Given the description of an element on the screen output the (x, y) to click on. 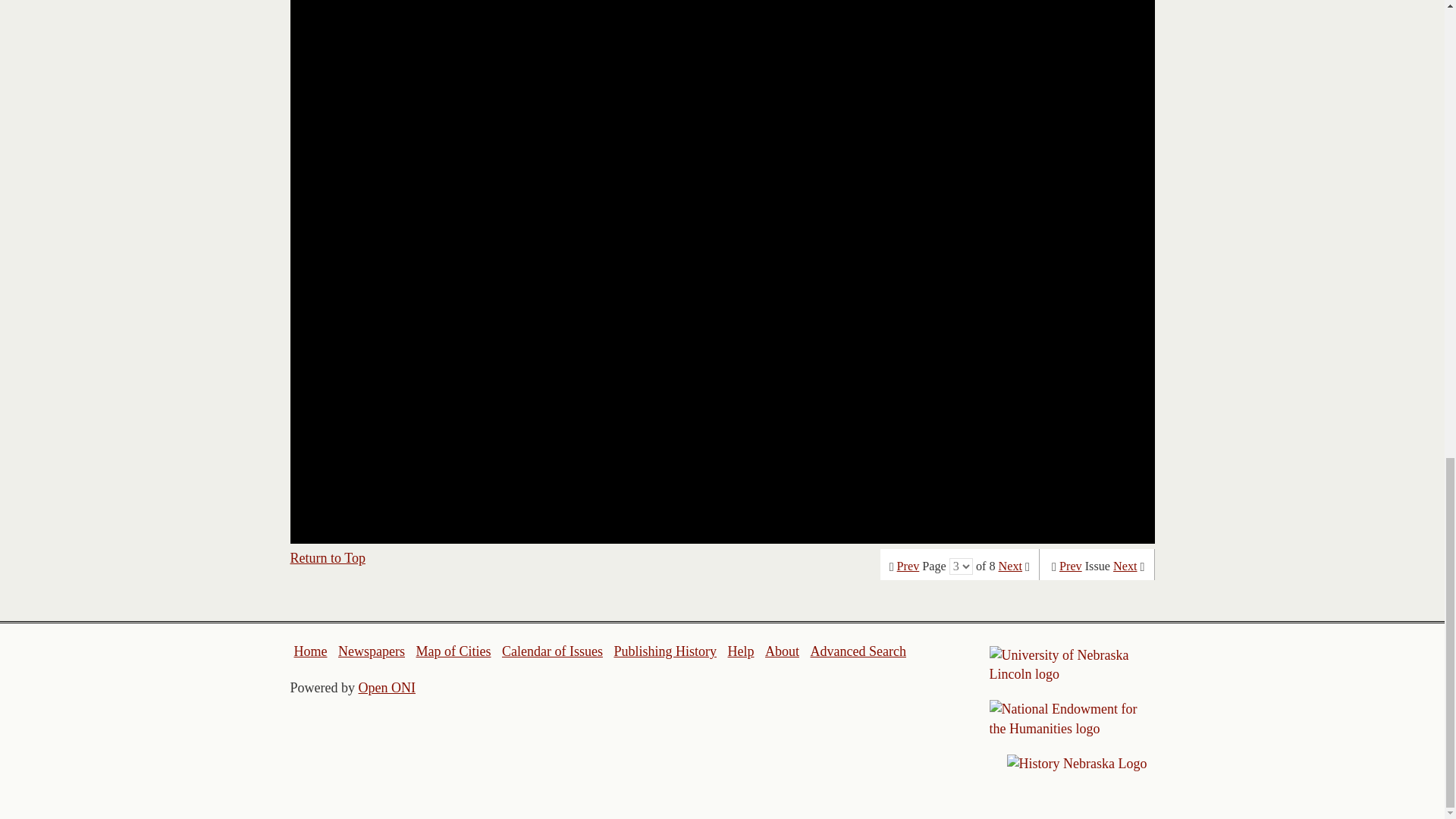
Prev (908, 566)
Advanced Search (857, 651)
Next (1125, 566)
Newspapers (370, 651)
Map of Cities (452, 651)
Prev (1070, 566)
Help (740, 651)
Open ONI (386, 687)
Publishing History (664, 651)
About (782, 651)
